Given the description of an element on the screen output the (x, y) to click on. 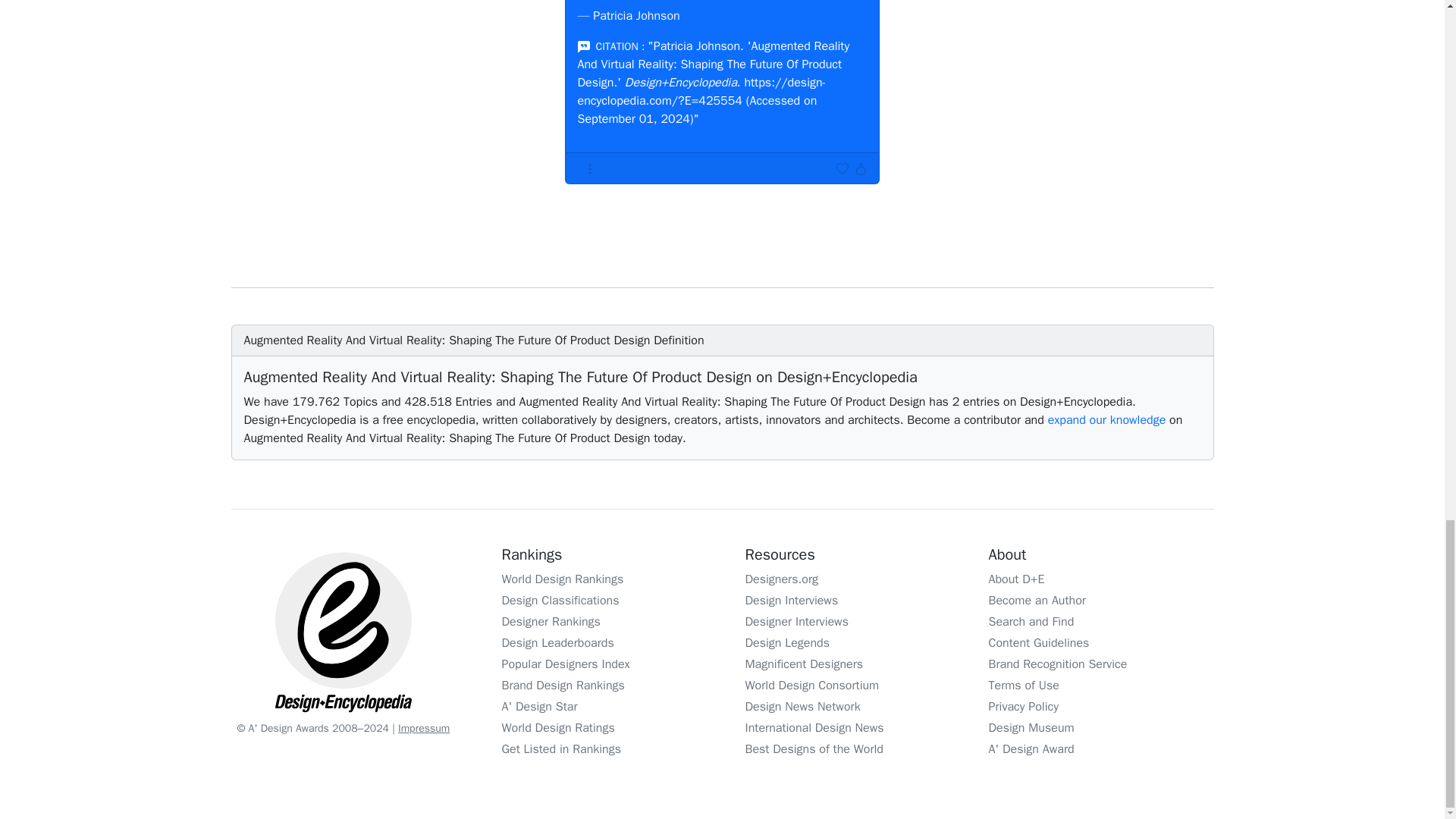
Brand Design Rankings (563, 685)
Magnificent Designers (803, 663)
Impressum (423, 727)
Search and Find (1031, 621)
Design Interviews (791, 600)
expand our knowledge (1107, 419)
Designer Rankings (550, 621)
Become an Author (1037, 600)
Content Guidelines (1038, 642)
World Design Consortium (811, 685)
